Given the description of an element on the screen output the (x, y) to click on. 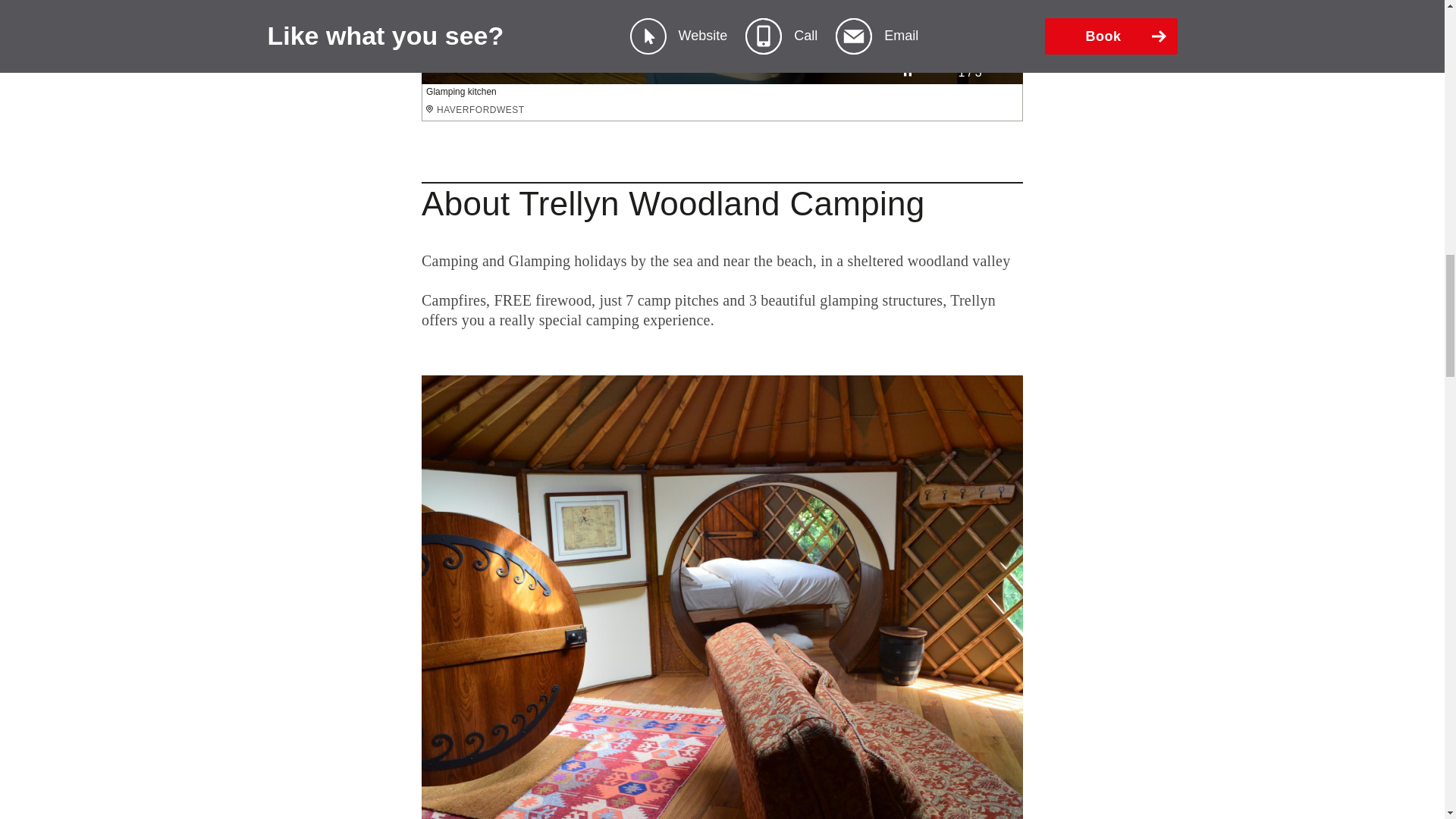
Next (1002, 72)
Previous (931, 72)
Pause video (907, 72)
